Given the description of an element on the screen output the (x, y) to click on. 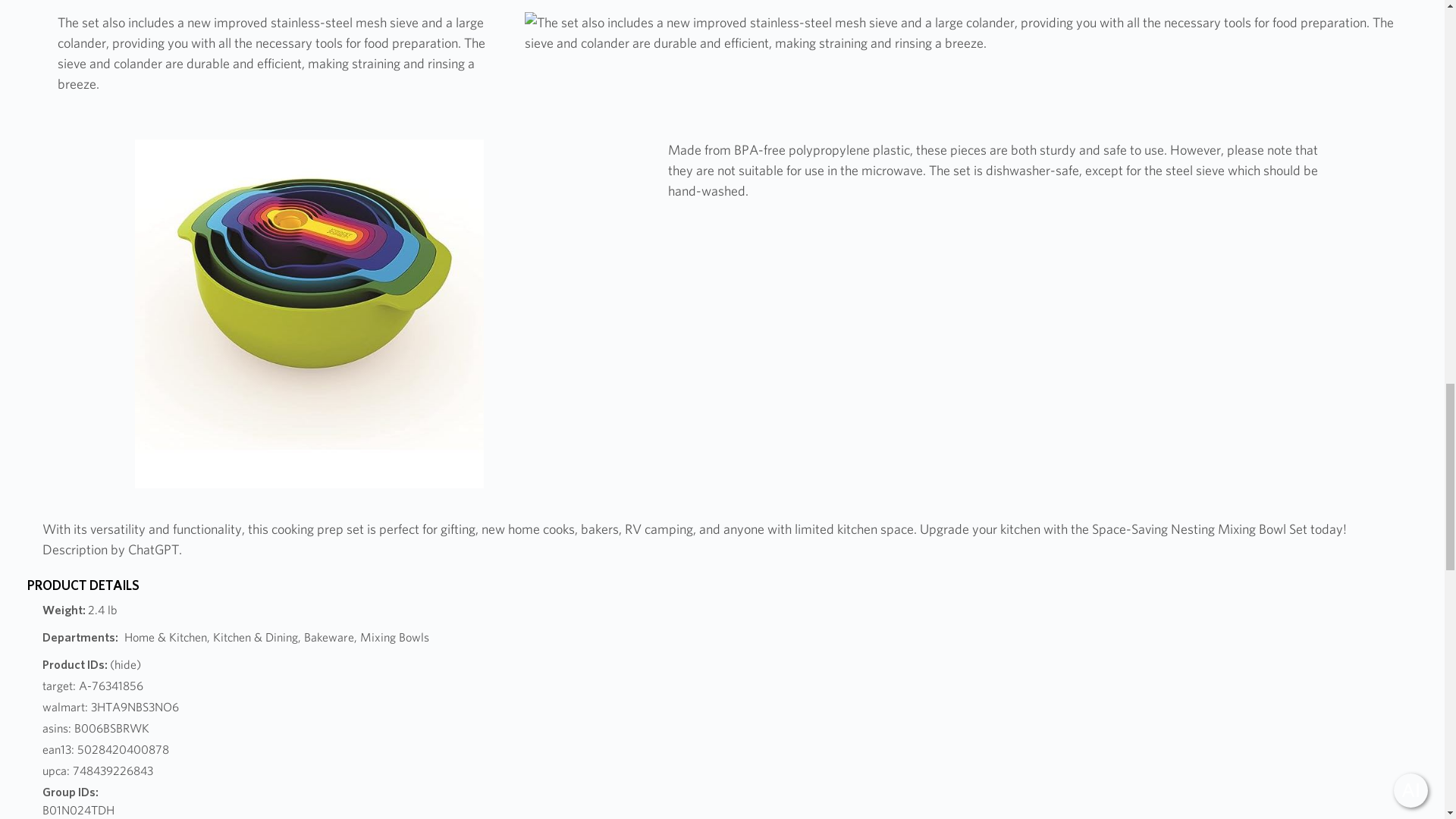
B01N024TDH (78, 810)
